Given the description of an element on the screen output the (x, y) to click on. 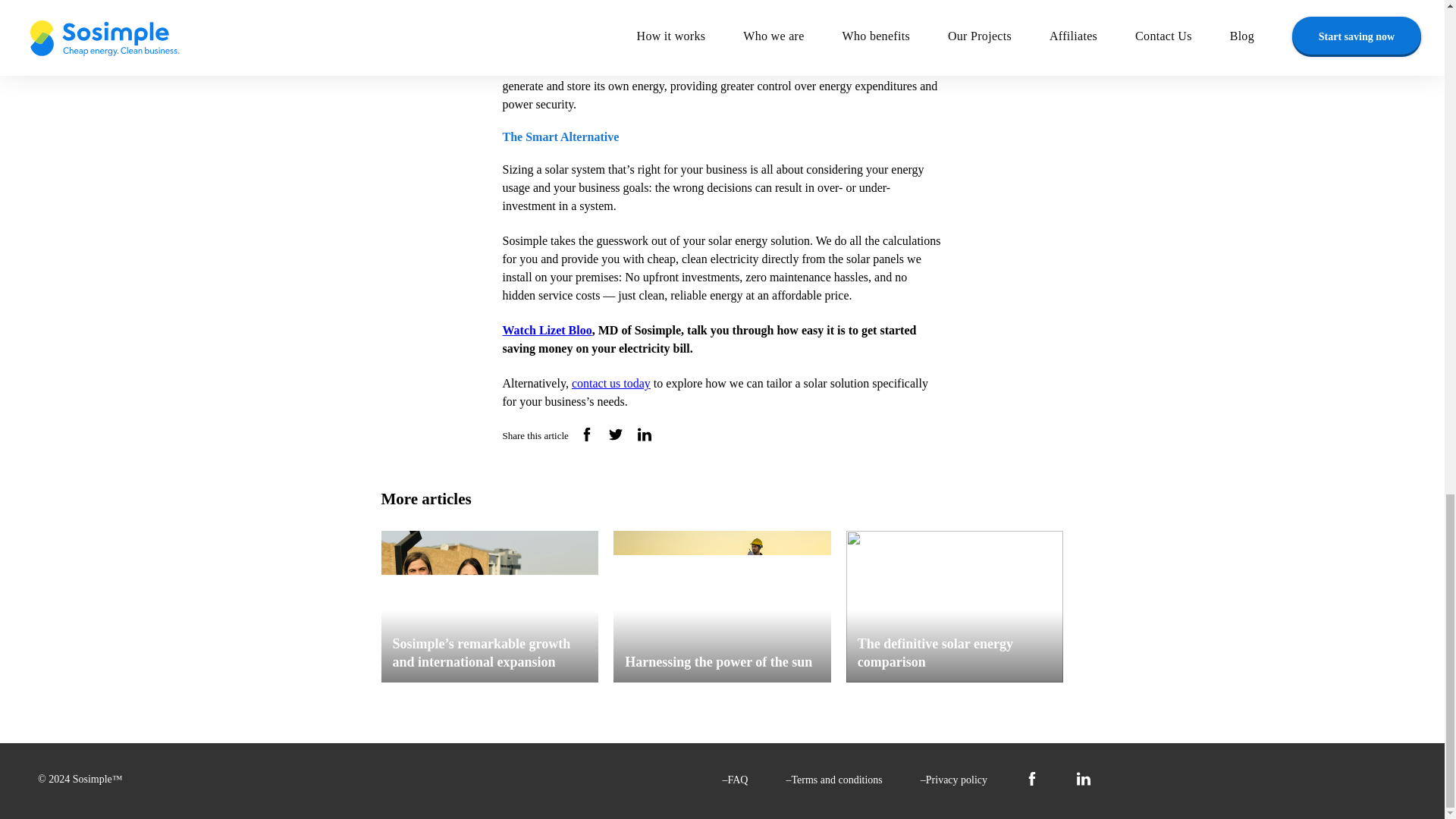
Harnessing the power of the sun (721, 606)
contact us today (611, 382)
The definitive solar energy comparison (954, 606)
Watch Lizet Bloo (546, 329)
